Given the description of an element on the screen output the (x, y) to click on. 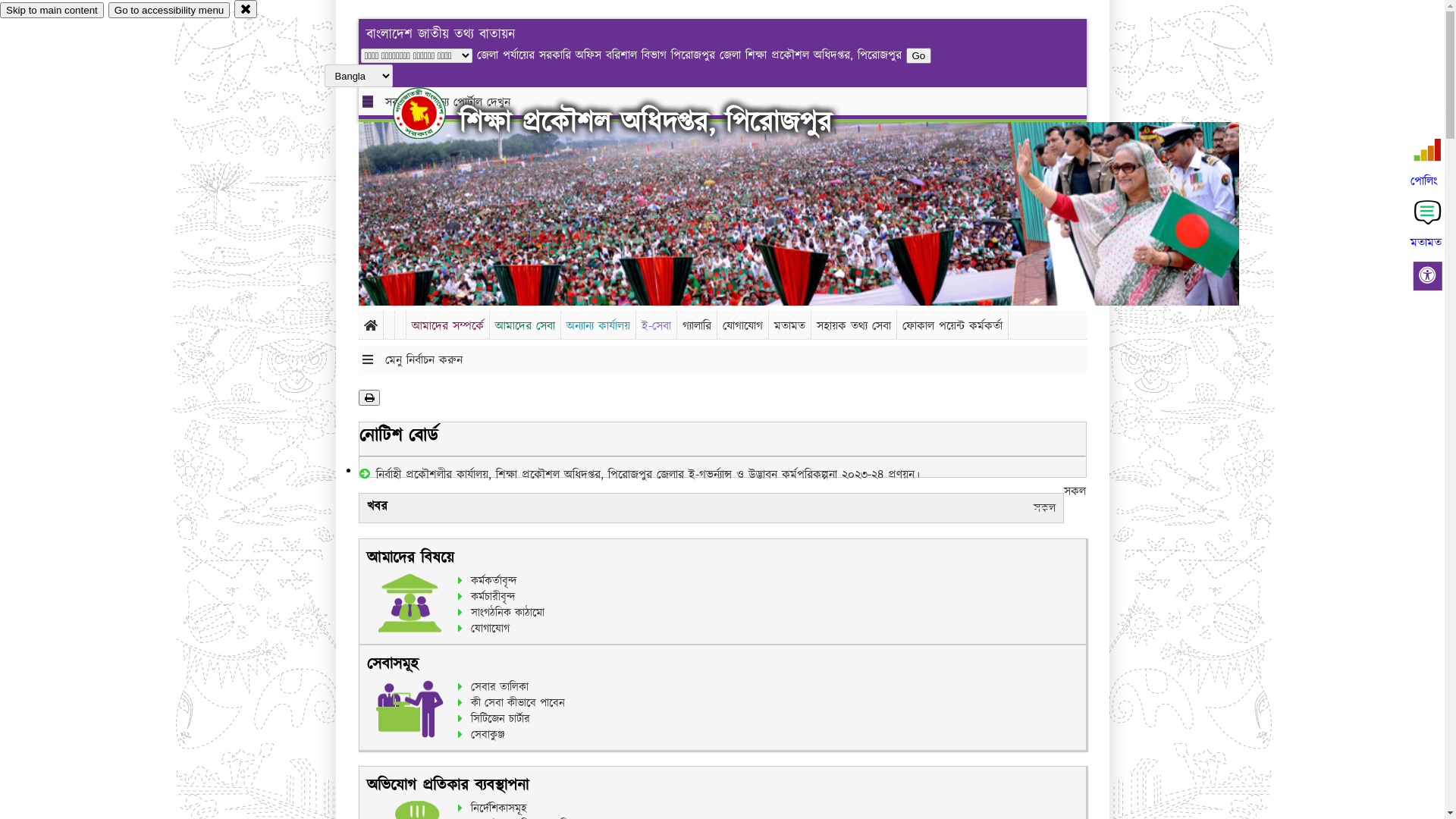
Skip to main content Element type: text (51, 10)
Go Element type: text (757, 55)
Go to accessibility menu Element type: text (168, 10)

                
             Element type: hover (431, 112)
close Element type: hover (245, 9)
